Given the description of an element on the screen output the (x, y) to click on. 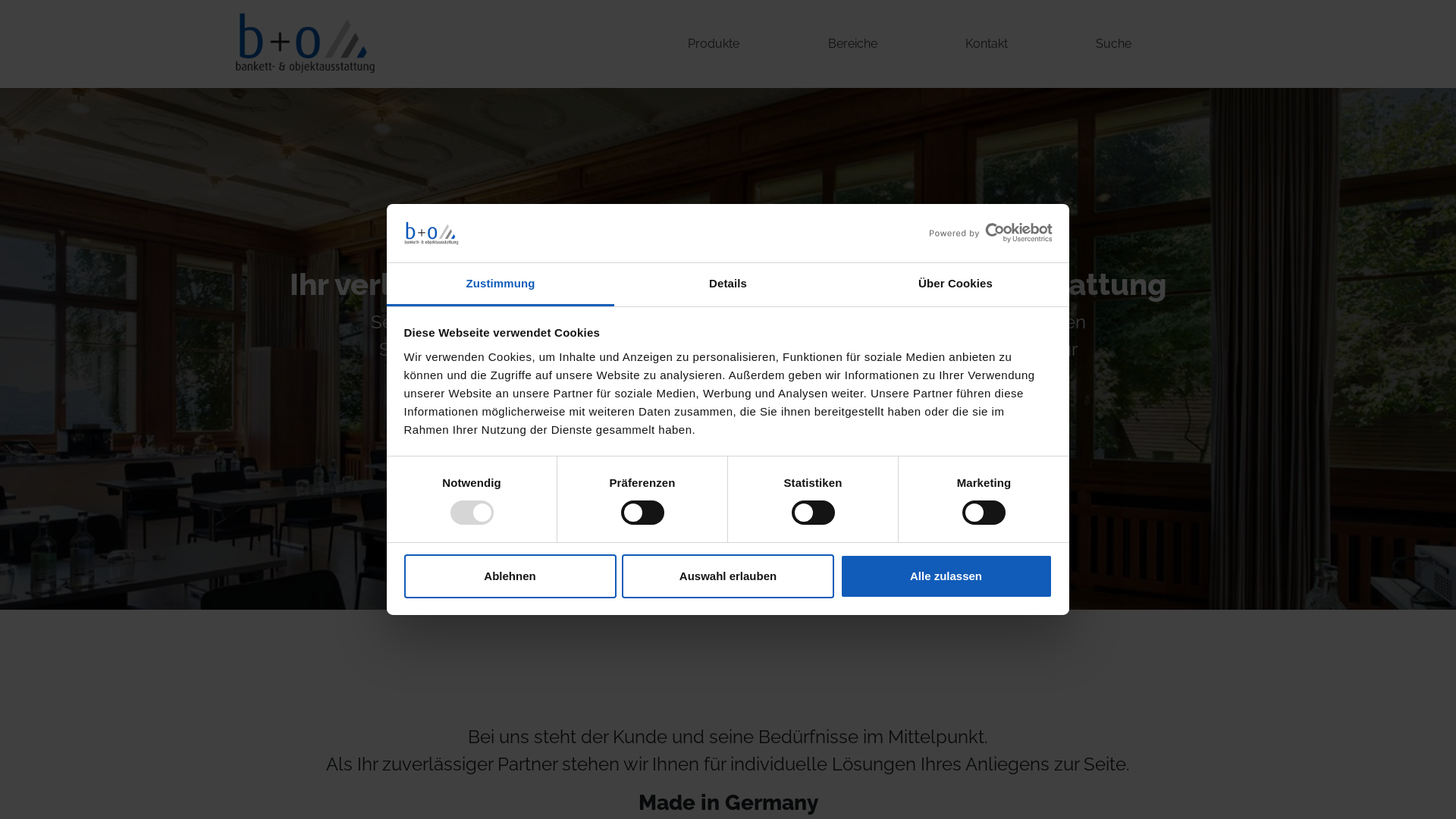
Details Element type: text (727, 284)
Ablehnen Element type: text (509, 576)
Alle zulassen Element type: text (946, 576)
Bereiche Element type: text (852, 43)
Produkte Element type: text (713, 43)
JETZT KONTAKTIEREN Element type: text (728, 416)
Zustimmung Element type: text (500, 284)
Kontakt Element type: text (986, 43)
Suche Element type: text (1113, 43)
Auswahl erlauben Element type: text (727, 576)
